Given the description of an element on the screen output the (x, y) to click on. 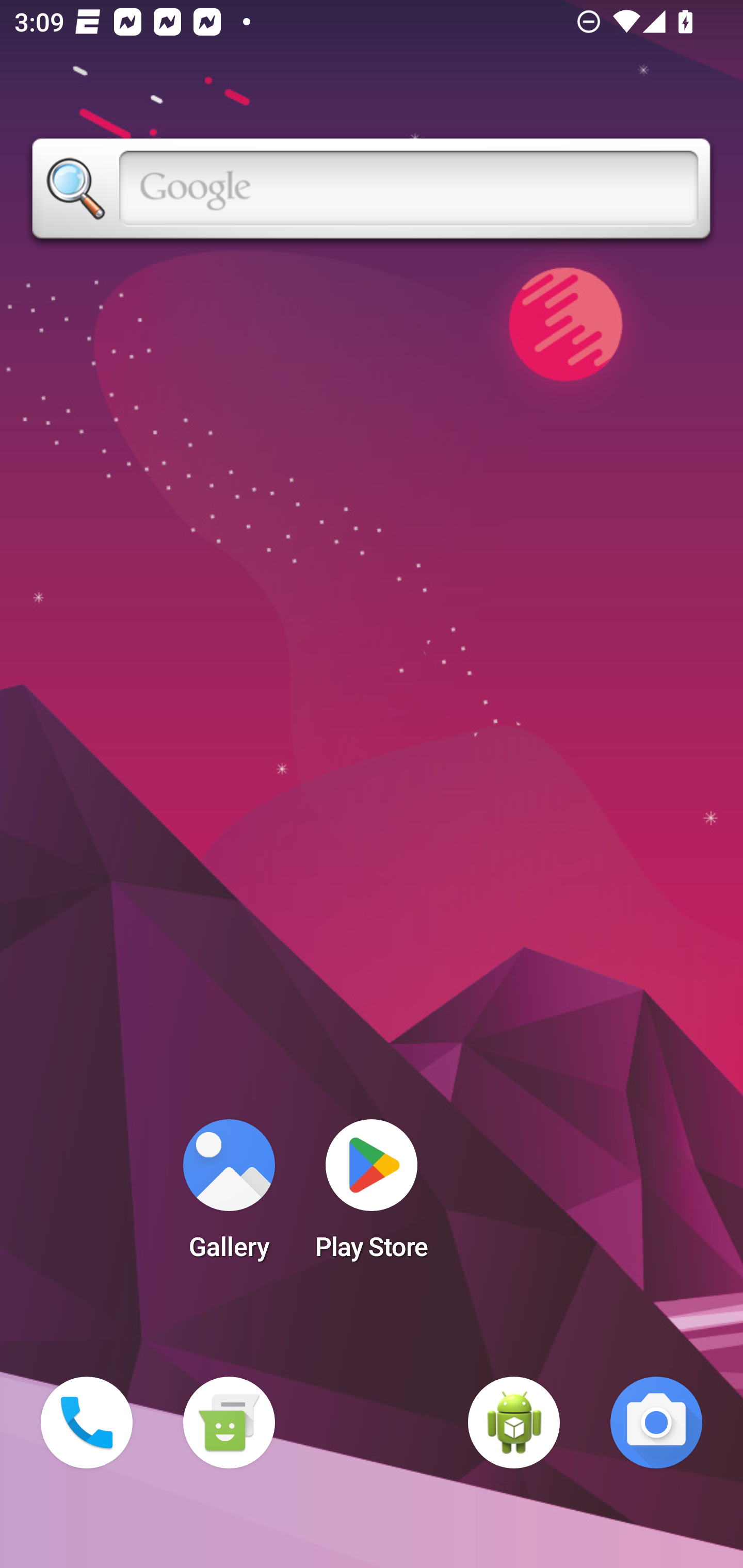
Gallery (228, 1195)
Play Store (371, 1195)
Phone (86, 1422)
Messaging (228, 1422)
WebView Browser Tester (513, 1422)
Camera (656, 1422)
